Given the description of an element on the screen output the (x, y) to click on. 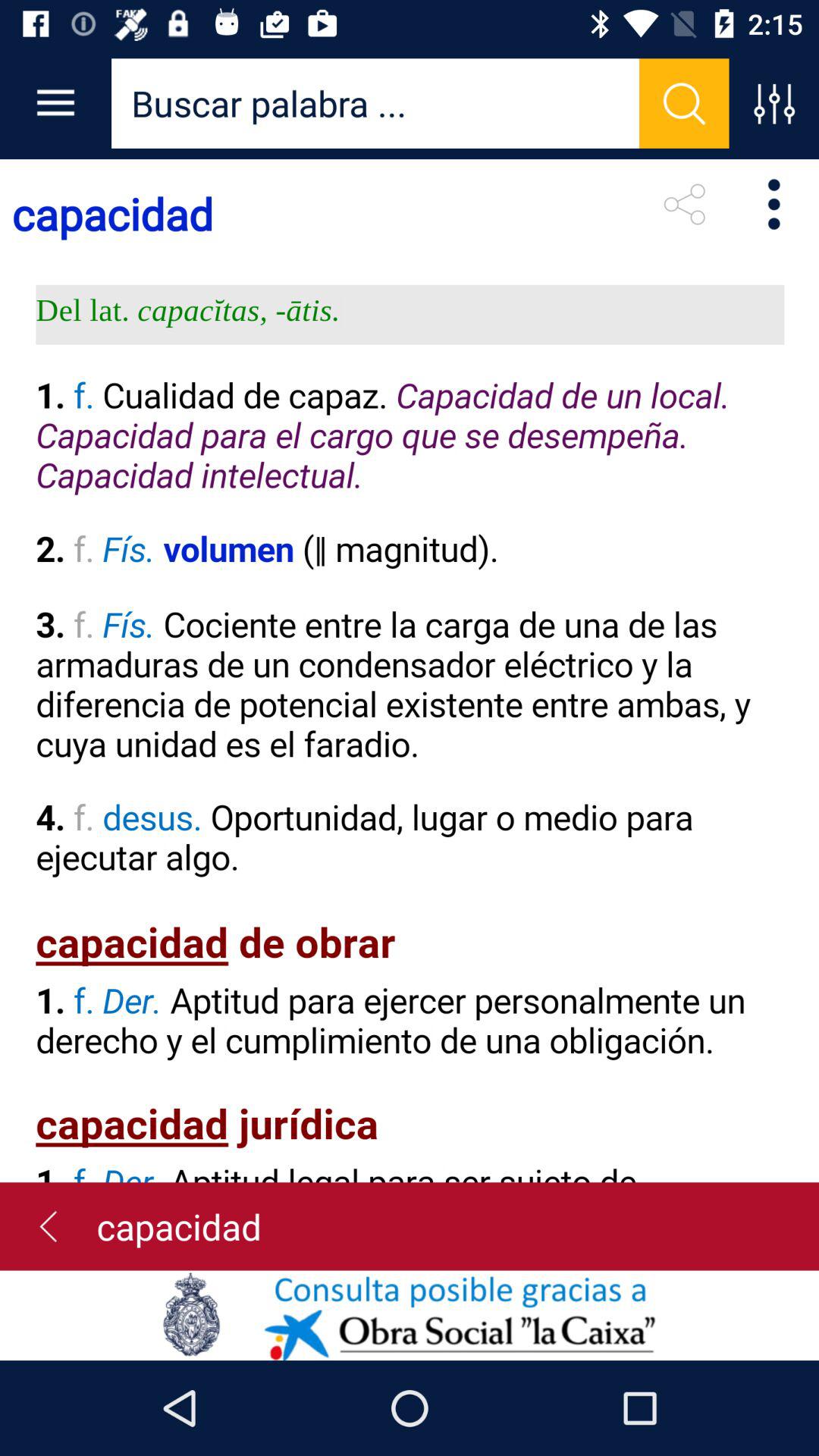
go to advertisement (409, 1315)
